Given the description of an element on the screen output the (x, y) to click on. 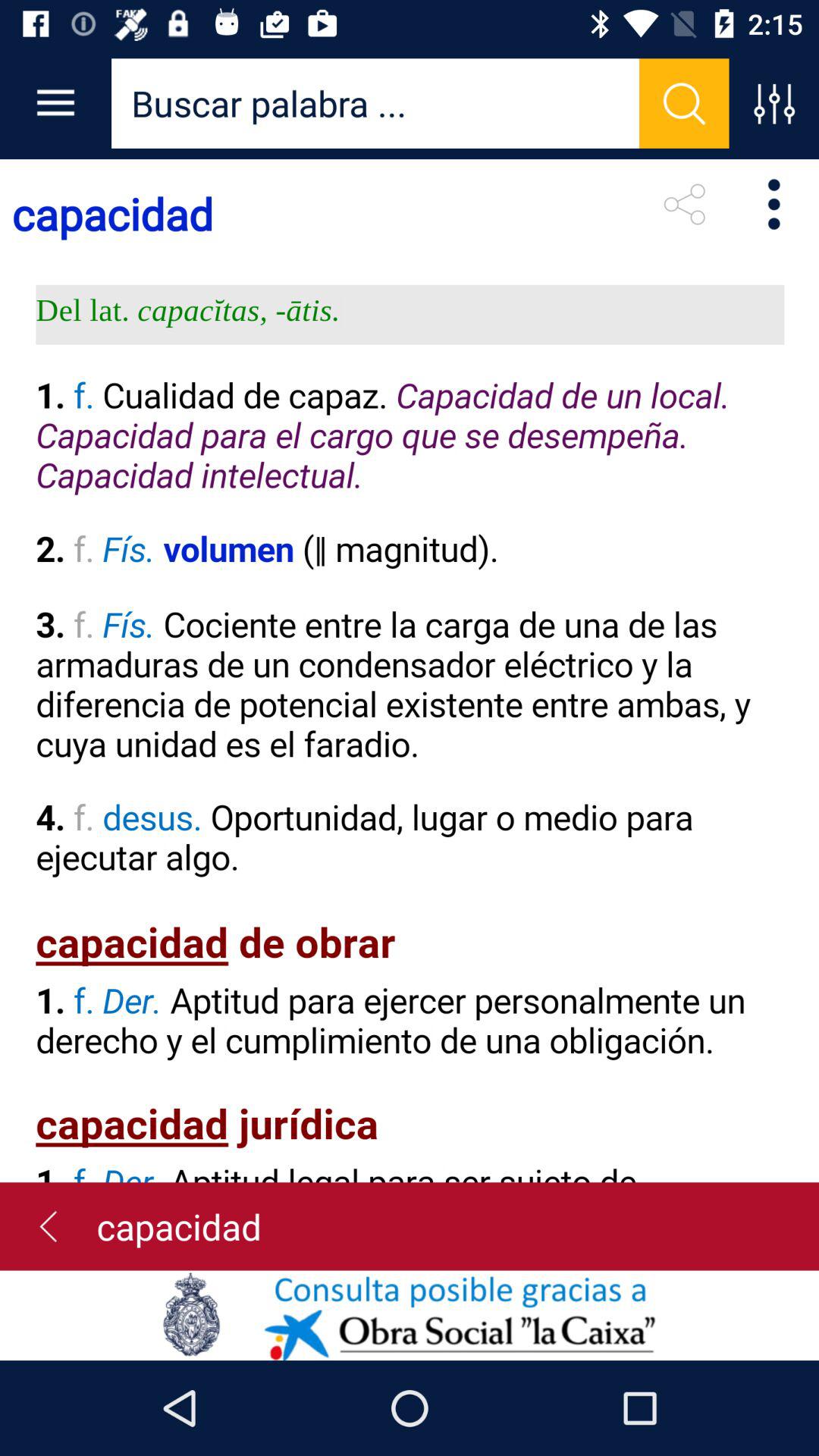
go to advertisement (409, 1315)
